Given the description of an element on the screen output the (x, y) to click on. 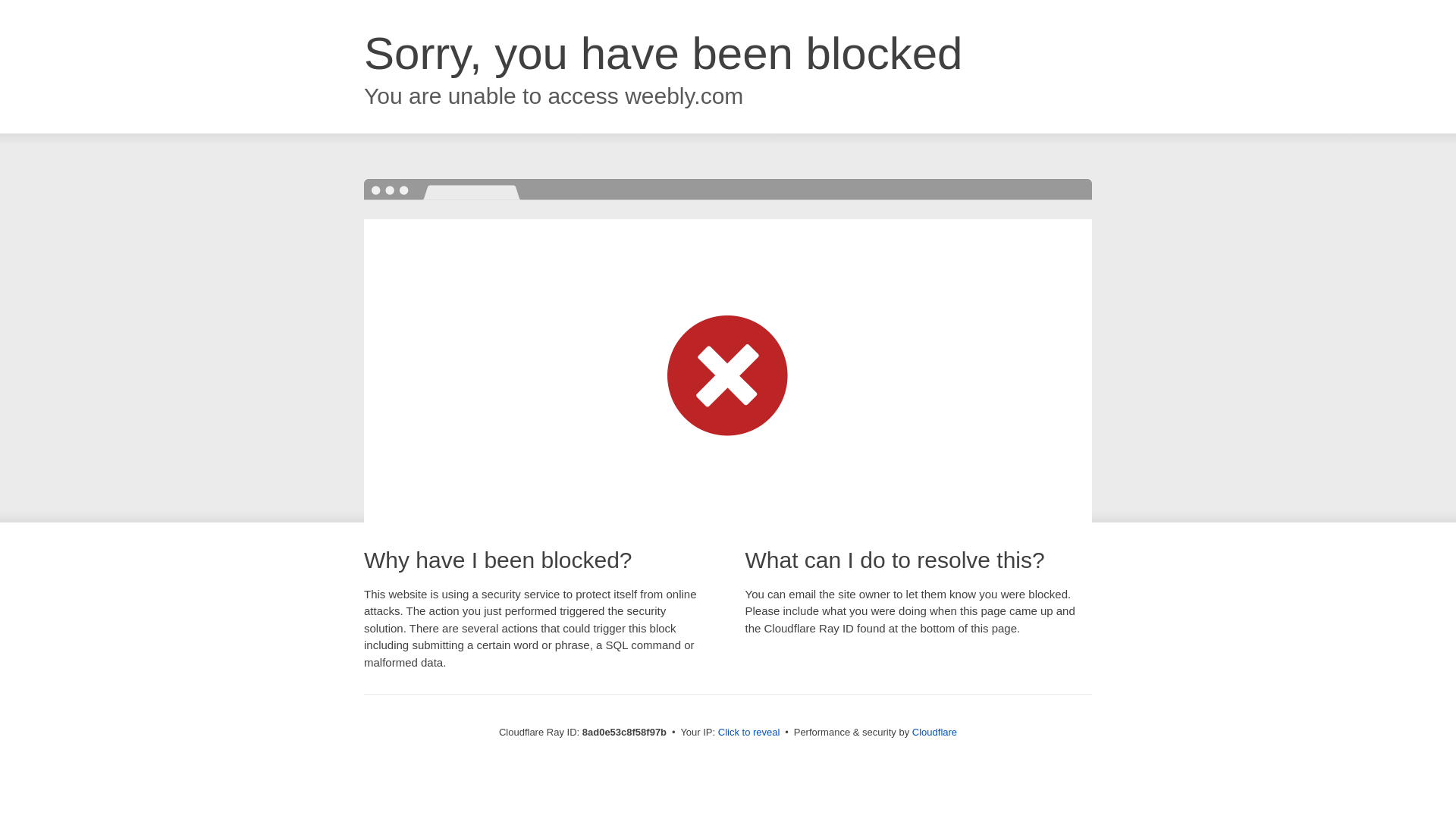
Cloudflare (934, 731)
Click to reveal (748, 732)
